Given the description of an element on the screen output the (x, y) to click on. 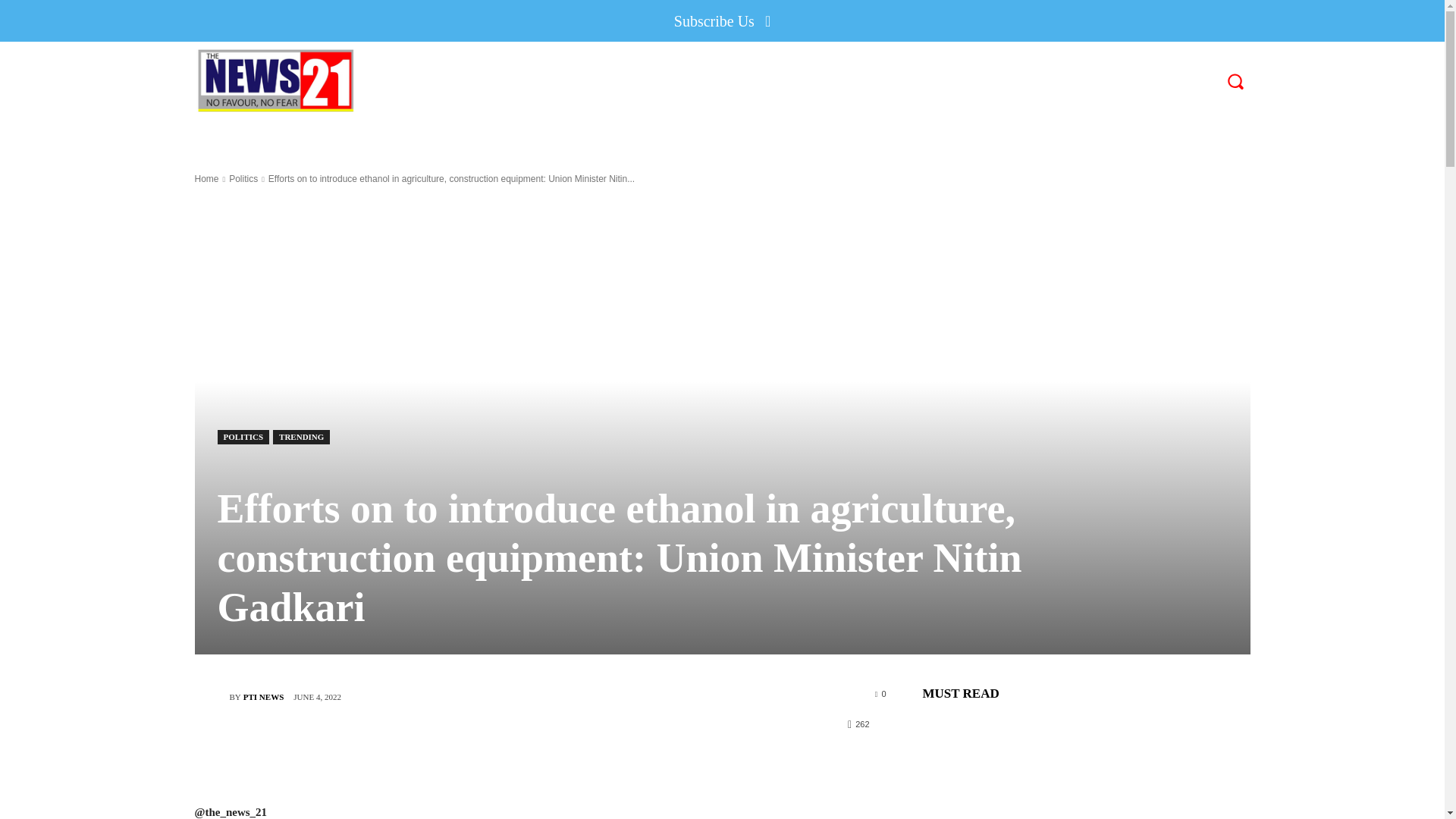
View all posts in Politics (242, 178)
TRENDING (301, 436)
Politics (242, 178)
POLITICS (242, 436)
PTI NEWS (263, 696)
PTI NEWS (210, 696)
Home (205, 178)
